Given the description of an element on the screen output the (x, y) to click on. 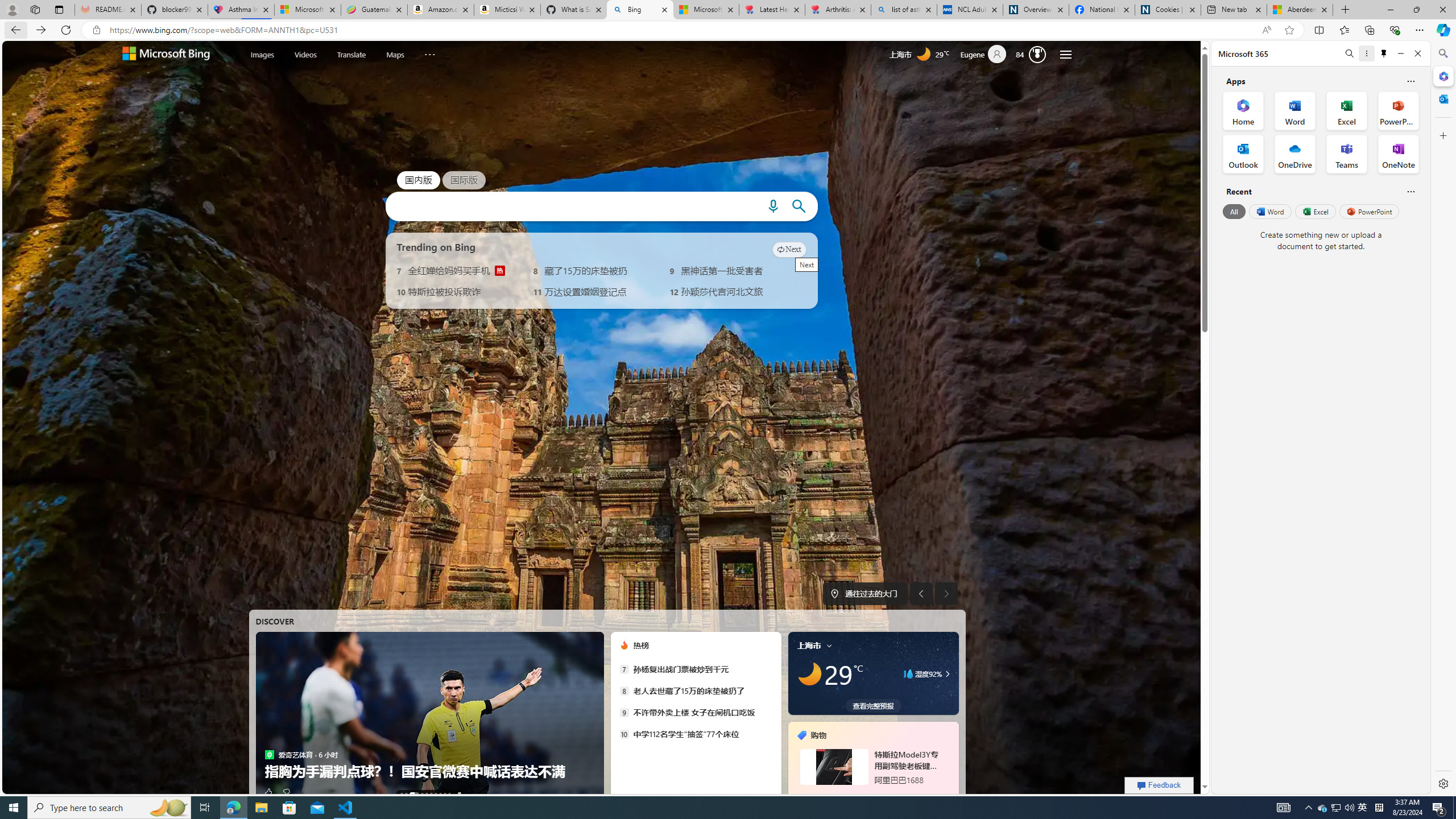
Class: icon-img (828, 645)
AutomationID: tab-0 (400, 793)
OneNote Office App (1398, 154)
Images (261, 53)
Feedback (1158, 785)
Eugene (987, 54)
More options (1366, 53)
AutomationID: tab-9 (448, 793)
